Given the description of an element on the screen output the (x, y) to click on. 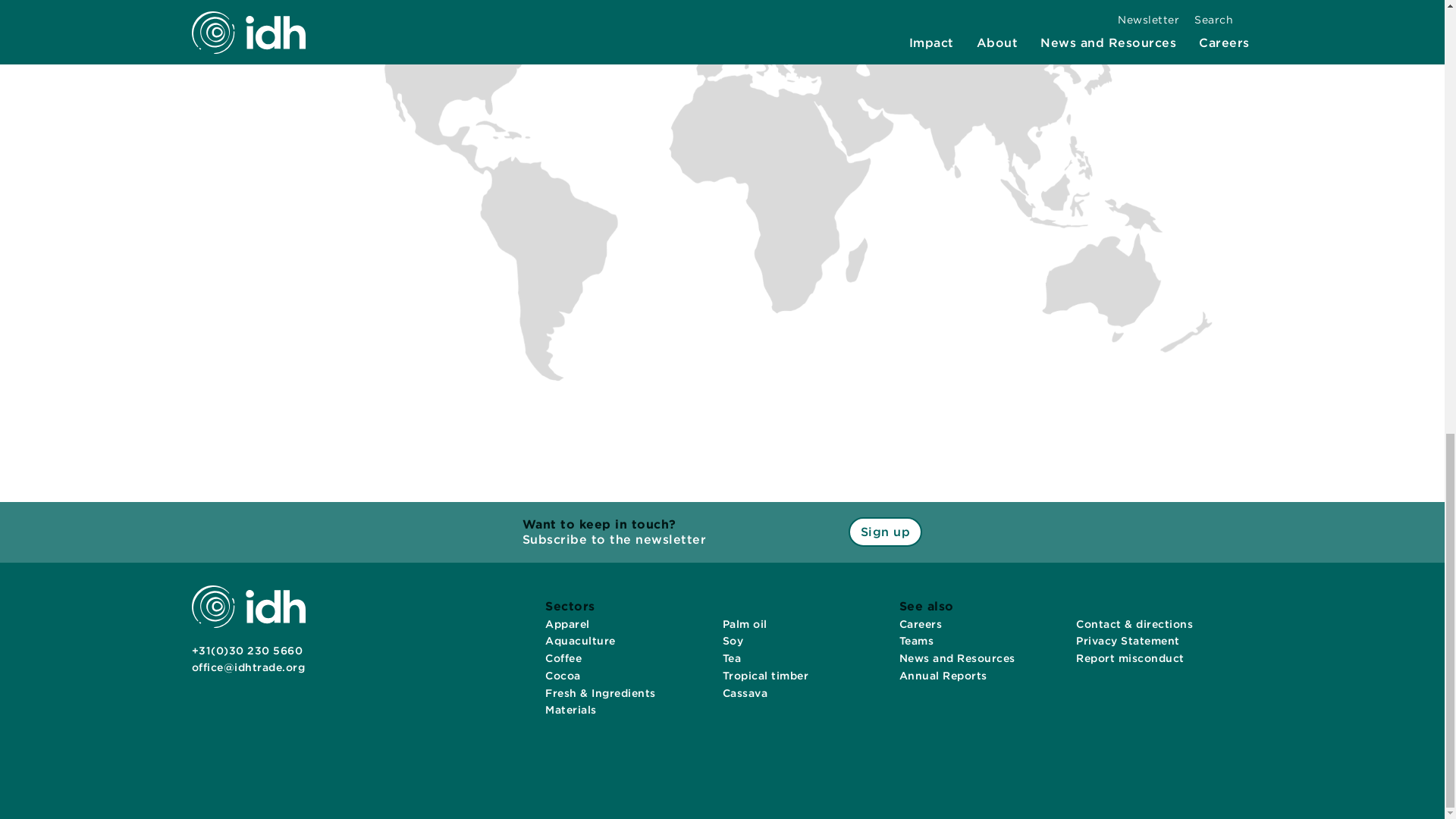
Map pin (694, 167)
Map pin (836, 162)
Map pin (721, 170)
Map pin (710, 171)
Map pin (831, 193)
Map pin (721, 20)
Map pin (558, 239)
